Given the description of an element on the screen output the (x, y) to click on. 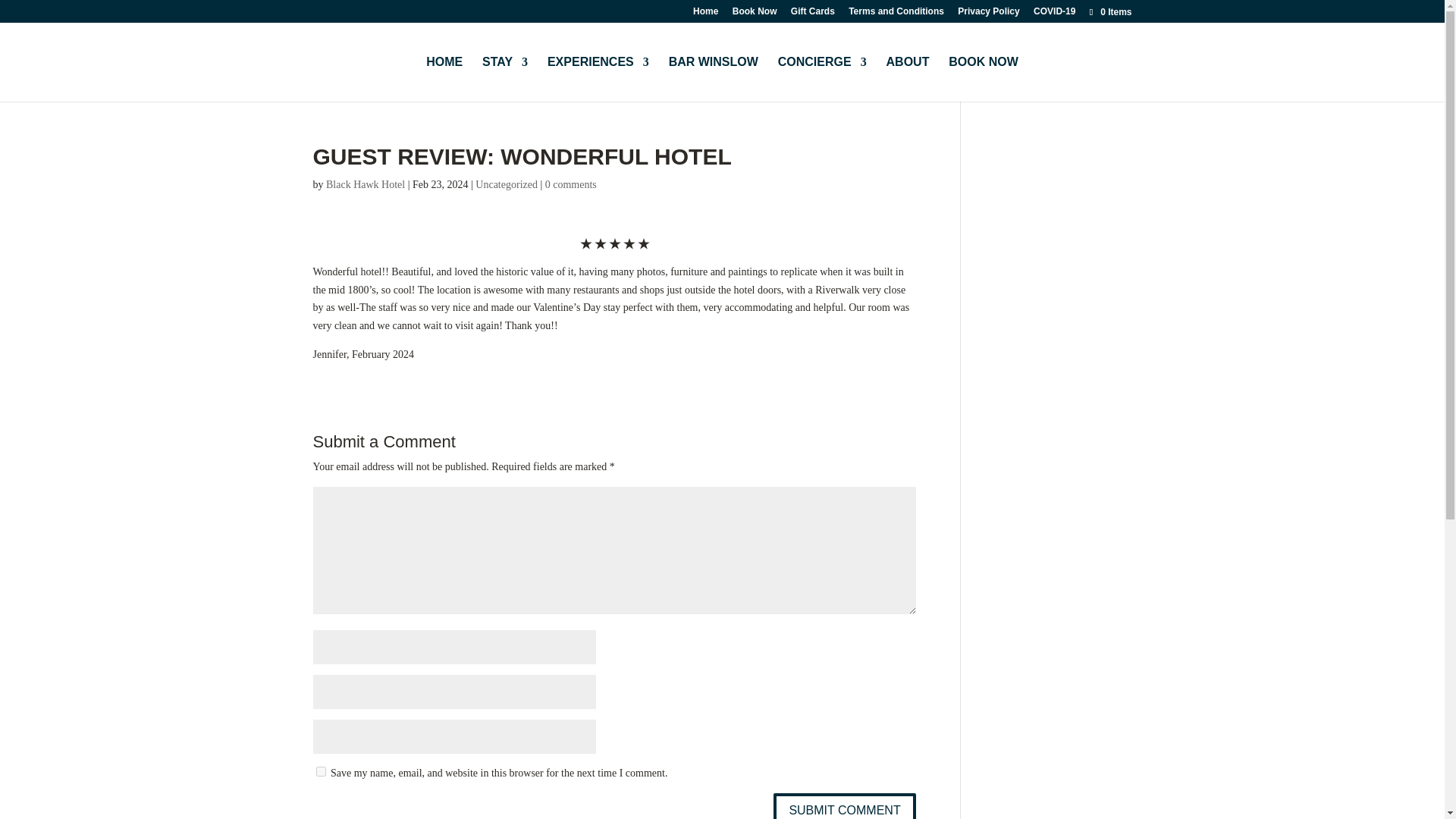
CONCIERGE (821, 78)
Home (705, 14)
0 Items (1108, 11)
yes (319, 771)
COVID-19 (1054, 14)
Terms and Conditions (895, 14)
BAR WINSLOW (713, 78)
Posts by Black Hawk Hotel (365, 184)
ABOUT (908, 78)
Gift Cards (812, 14)
